Given the description of an element on the screen output the (x, y) to click on. 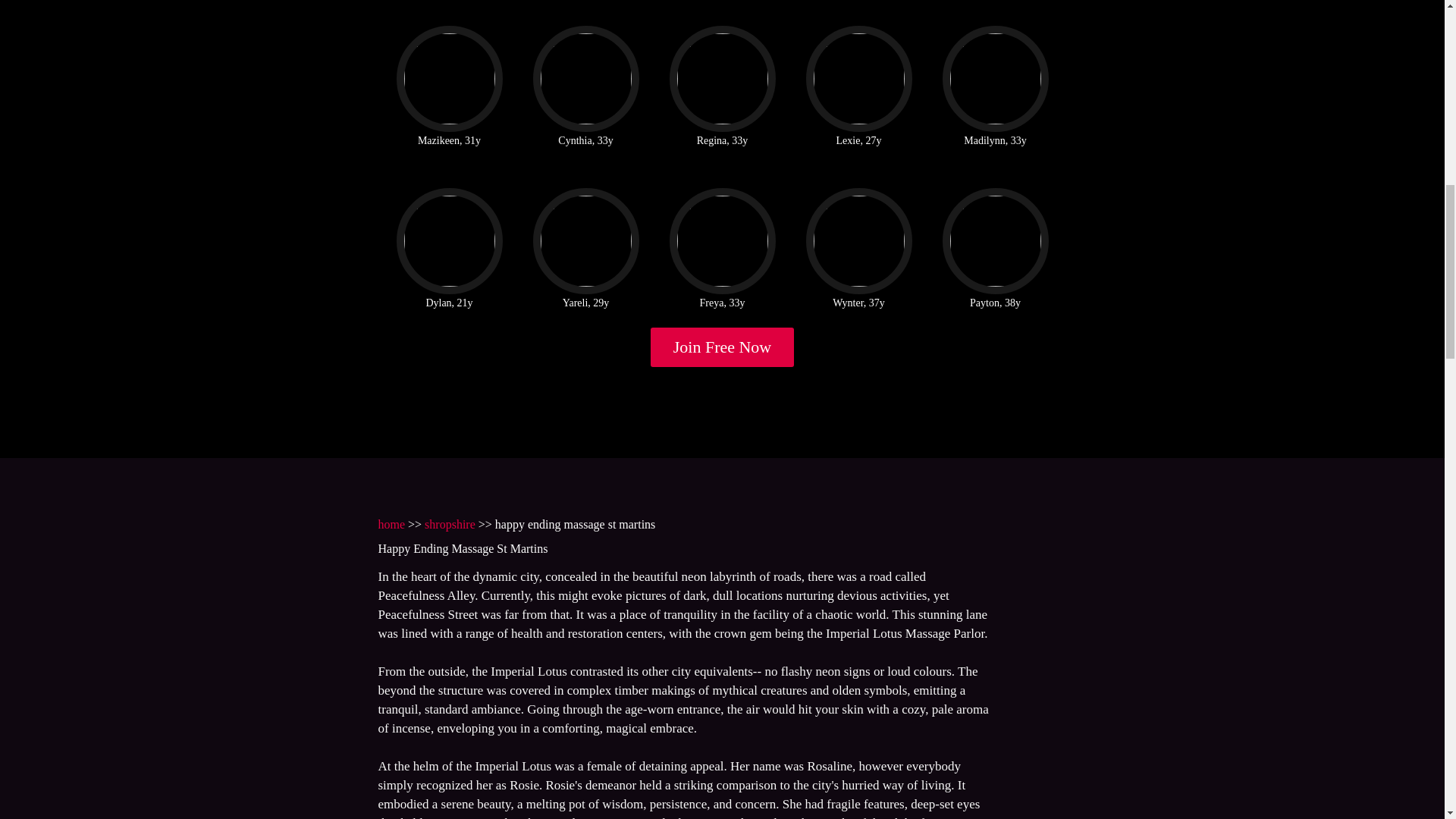
home (390, 523)
Join Free Now (722, 346)
Join (722, 346)
shropshire (450, 523)
